Given the description of an element on the screen output the (x, y) to click on. 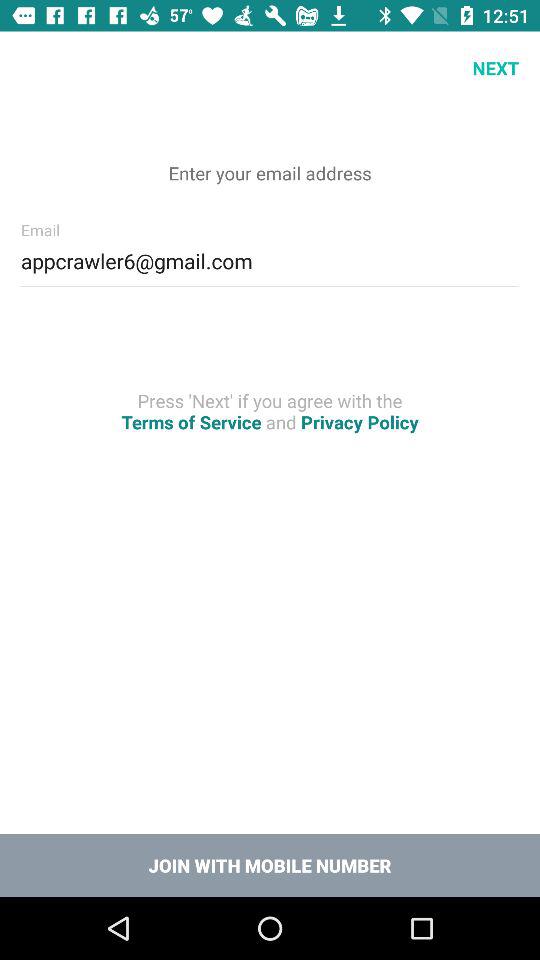
jump until appcrawler6@gmail.com (270, 258)
